Given the description of an element on the screen output the (x, y) to click on. 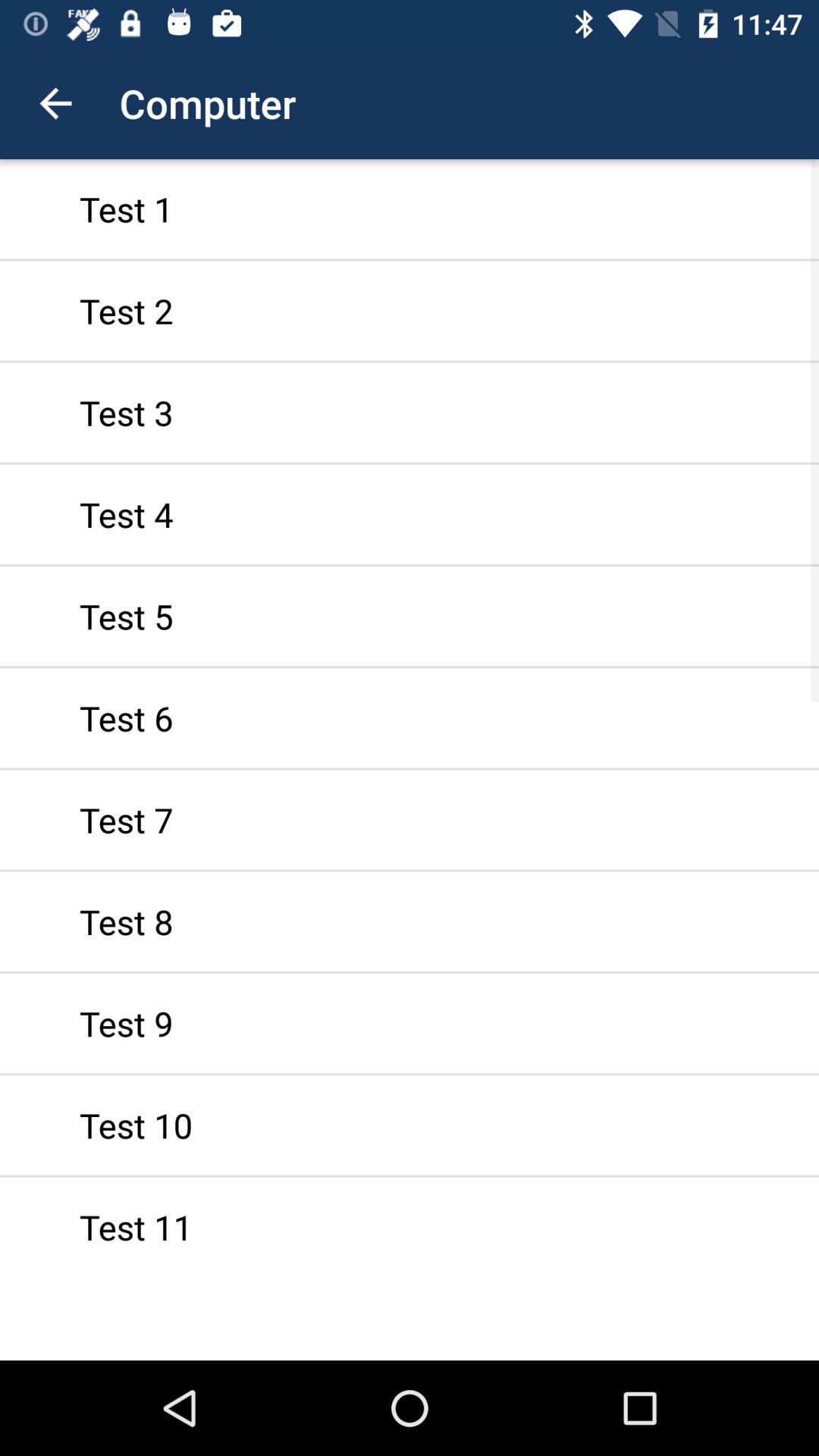
turn on the icon below the test 5 item (409, 717)
